Given the description of an element on the screen output the (x, y) to click on. 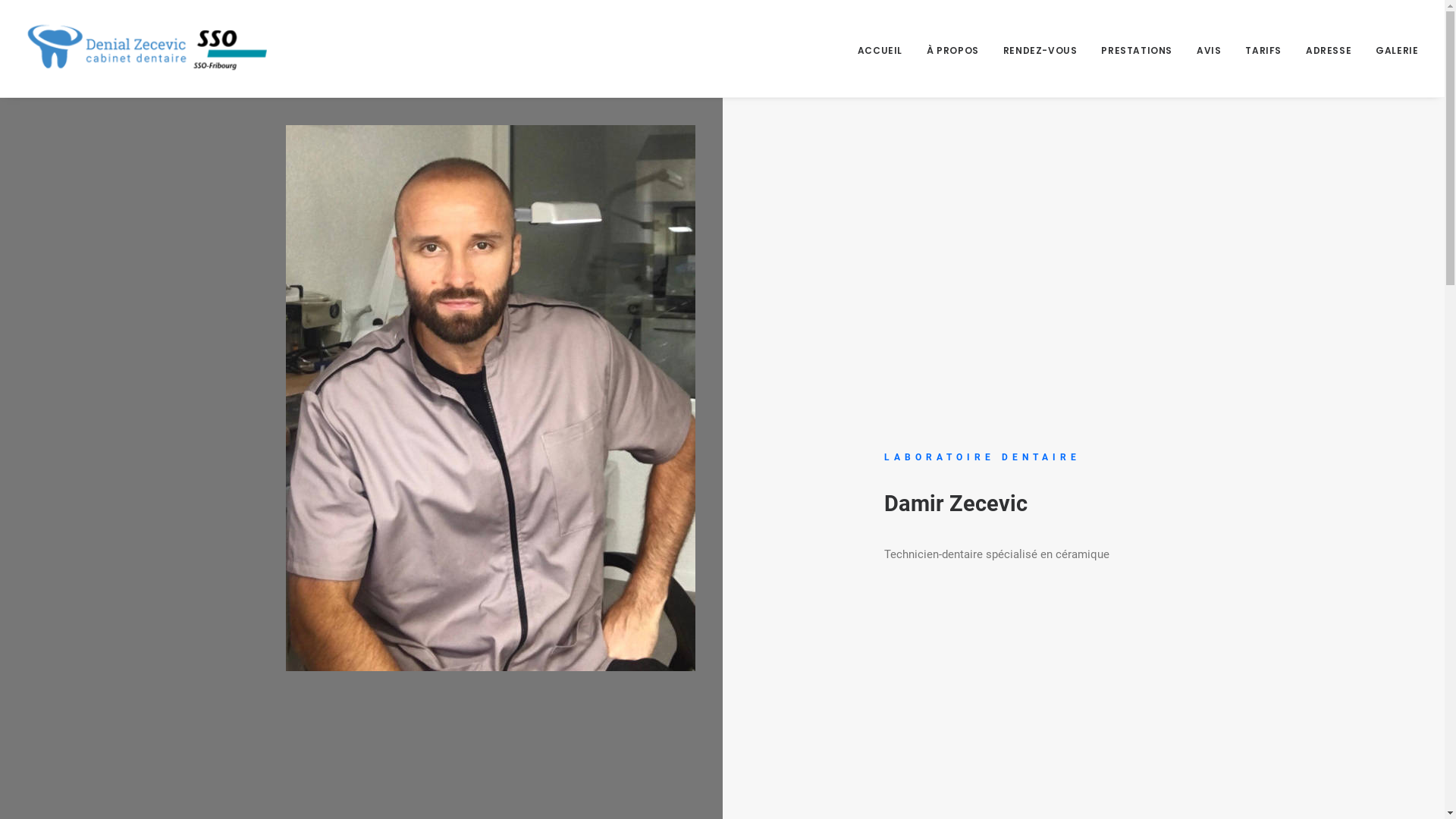
GALERIE Element type: text (1391, 48)
AVIS Element type: text (1208, 48)
PRESTATIONS Element type: text (1136, 48)
ACCUEIL Element type: text (885, 48)
TARIFS Element type: text (1263, 48)
ADRESSE Element type: text (1328, 48)
RENDEZ-VOUS Element type: text (1040, 48)
